Given the description of an element on the screen output the (x, y) to click on. 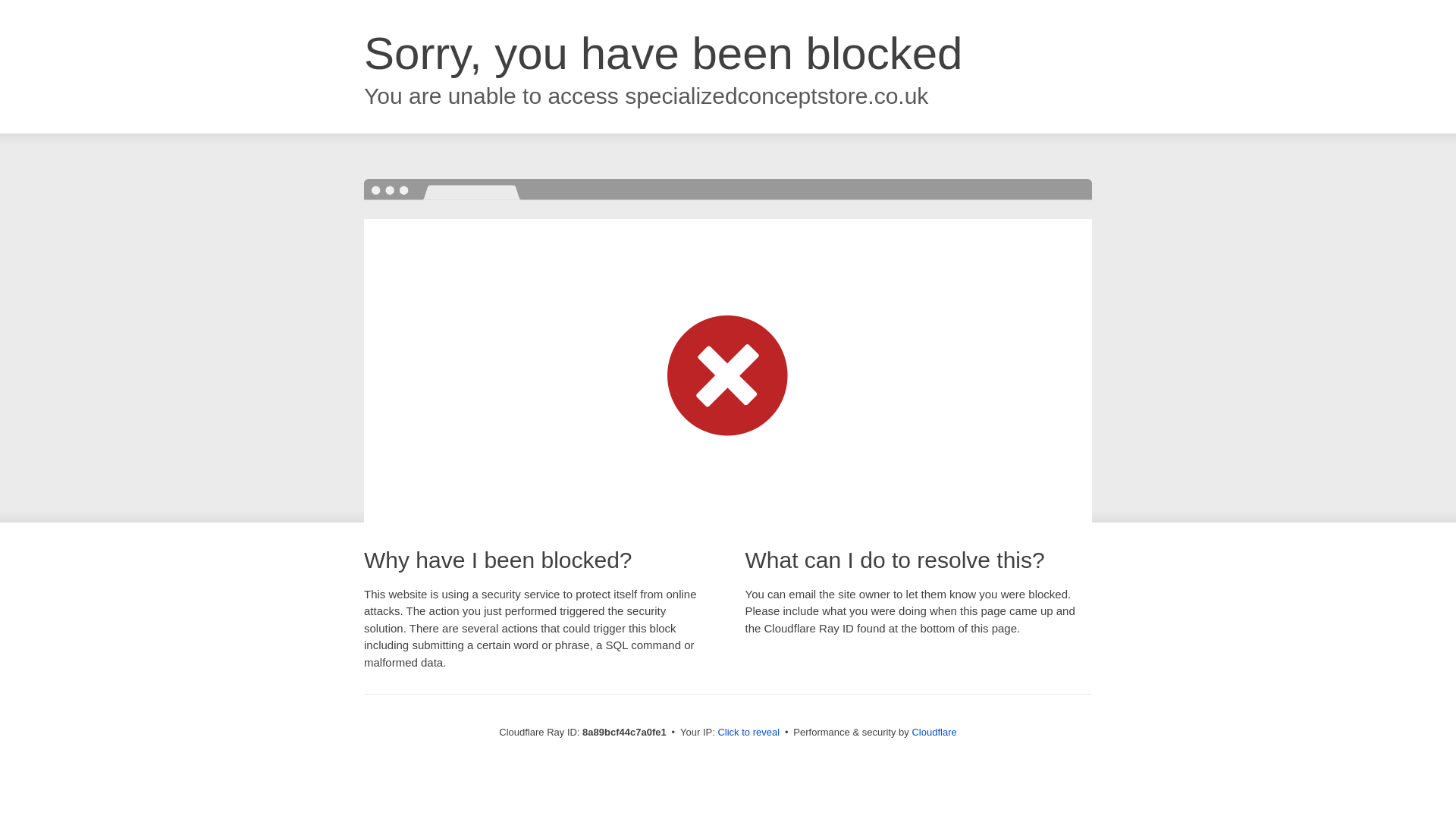
Cloudflare (933, 731)
Click to reveal (747, 732)
